Given the description of an element on the screen output the (x, y) to click on. 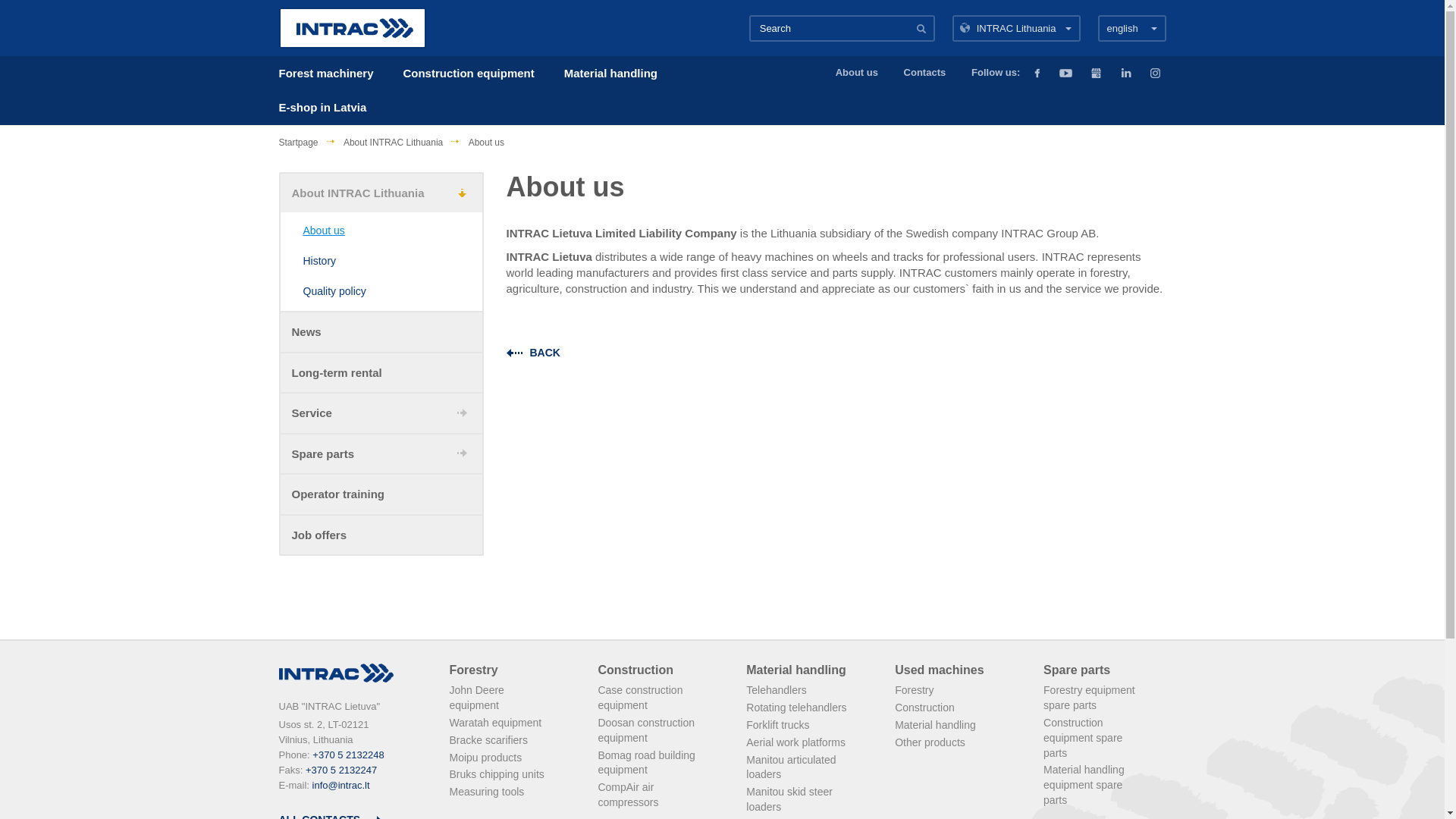
Construction equipment (468, 73)
Youtube (1065, 72)
Contacts (925, 72)
LinkedIn (1126, 72)
E-shop in Latvia (322, 107)
Instagram (1155, 72)
Forest machinery (326, 73)
SEARCH (921, 28)
english (1131, 28)
About us (856, 72)
INTRAC Lithuania (1015, 28)
Material handling (611, 73)
english (1131, 28)
